Given the description of an element on the screen output the (x, y) to click on. 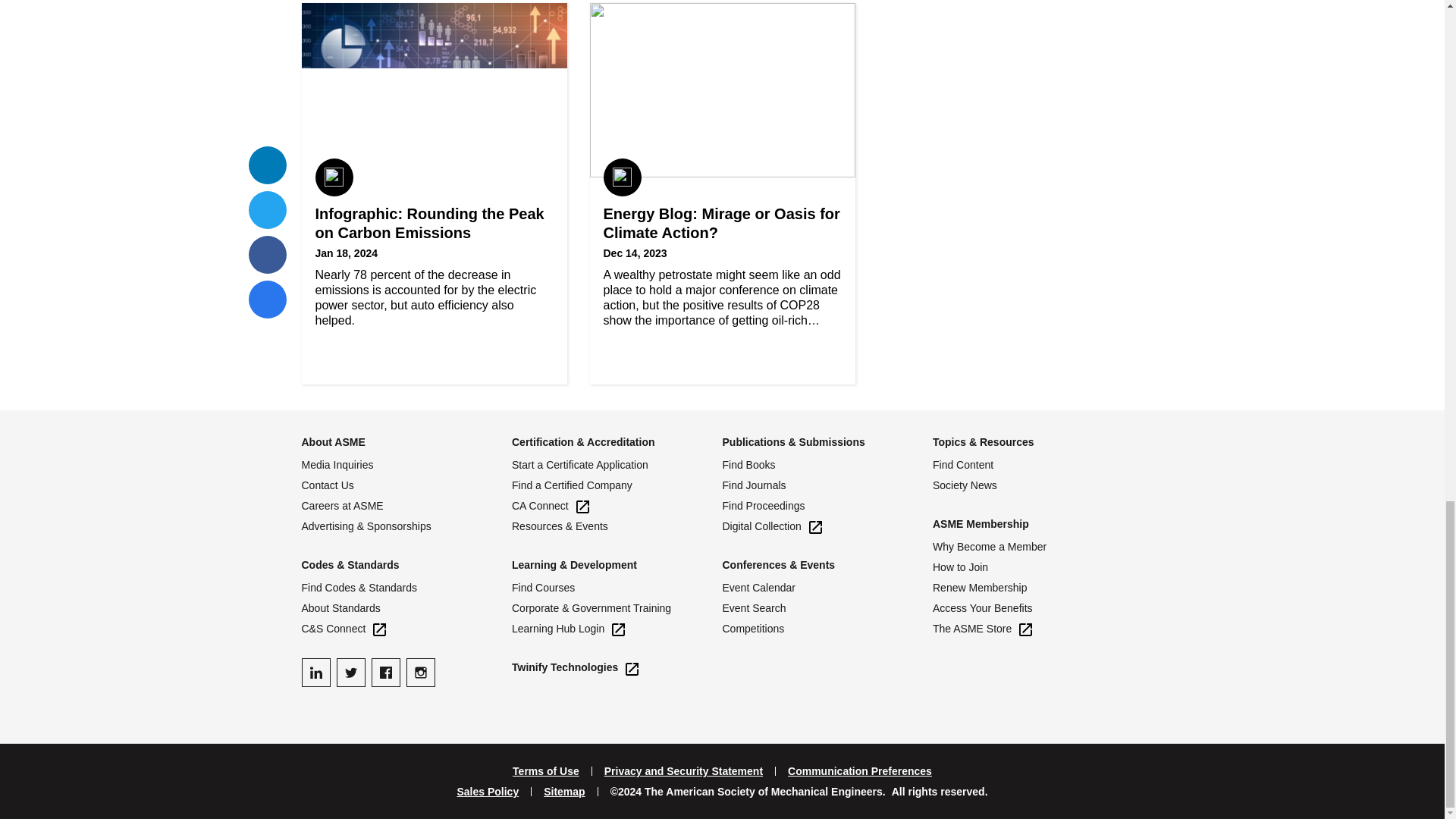
ASME on Instagram (420, 672)
About ASME (333, 441)
ASME on LinkedIn (315, 672)
ASME on Twitter (350, 672)
ASME on Facebook (385, 672)
